Given the description of an element on the screen output the (x, y) to click on. 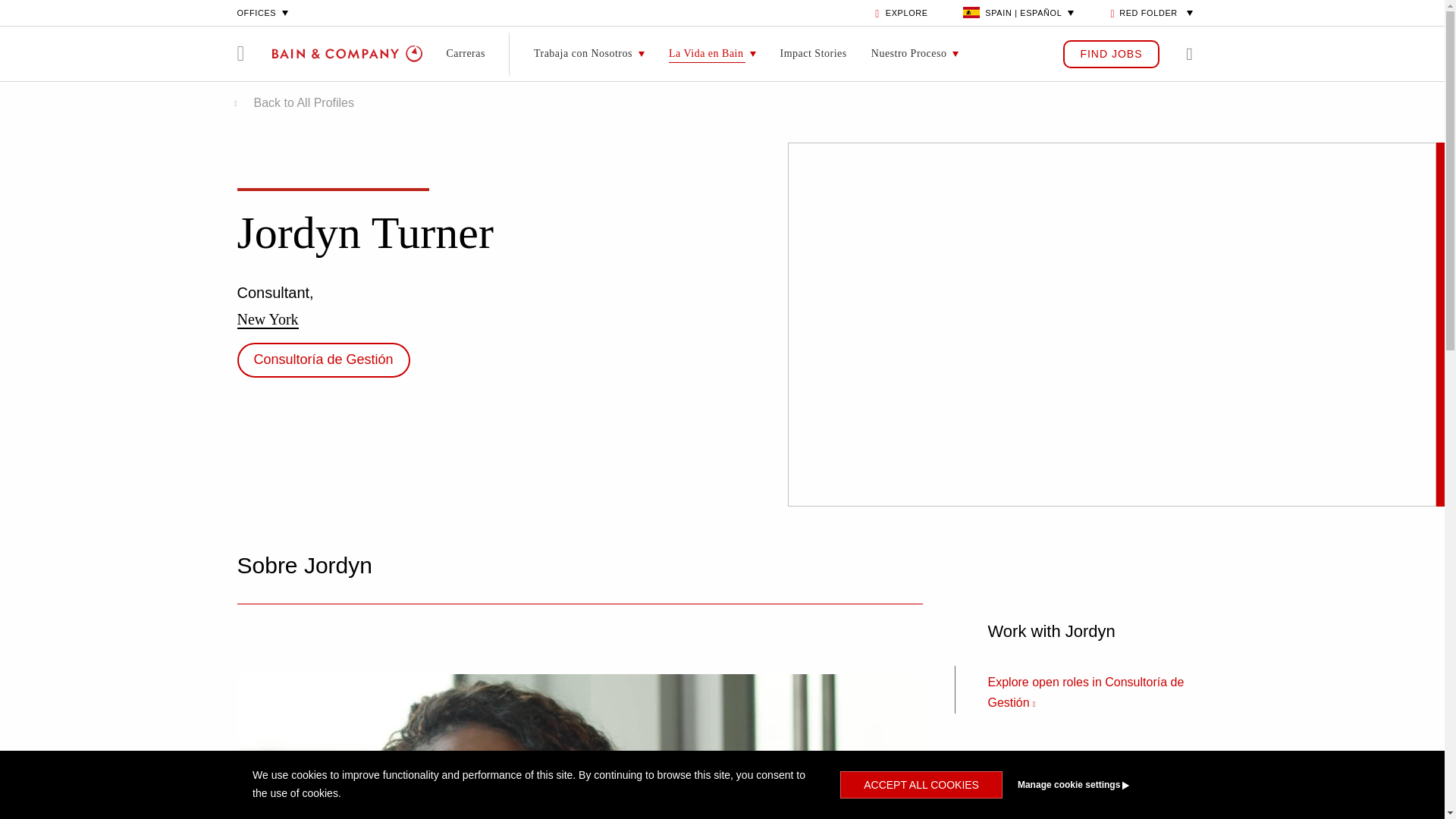
OFFICES (263, 12)
ACCEPT ALL COOKIES (921, 784)
Manage cookie settings (1101, 784)
